Given the description of an element on the screen output the (x, y) to click on. 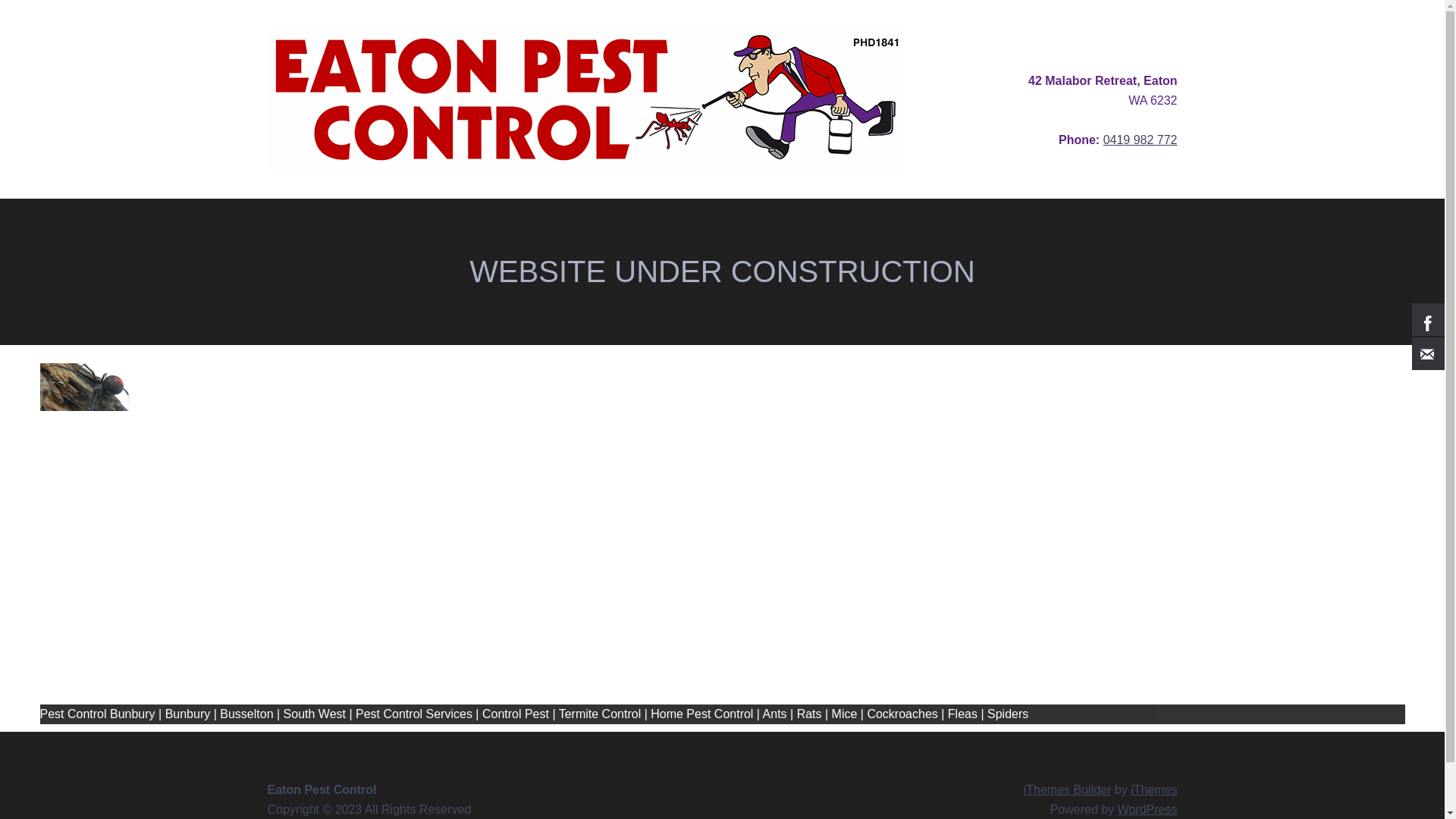
Prev Element type: text (58, 533)
0419 982 772 Element type: text (1140, 139)
iThemes Builder Element type: text (1067, 789)
Next Element type: text (1385, 533)
iThemes Element type: text (1153, 789)
WordPress Element type: text (1147, 809)
